Given the description of an element on the screen output the (x, y) to click on. 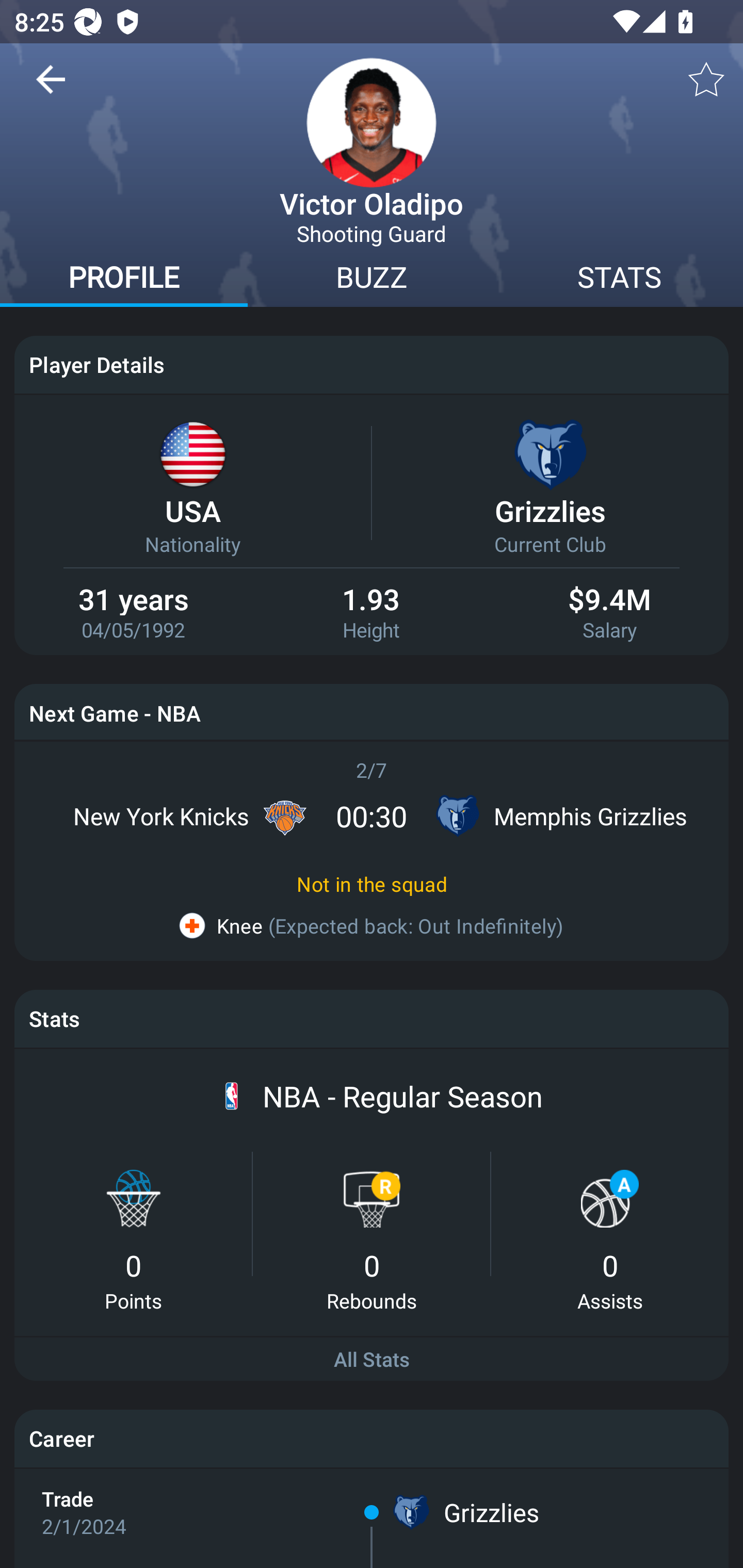
Navigate up (50, 86)
PROFILE (123, 279)
BUZZ (371, 279)
STATS (619, 279)
Player Details (371, 364)
2/7 New York Knicks 00:30 Memphis Grizzlies (371, 801)
Stats (371, 1018)
NBA - Regular Season (402, 1096)
All Stats (371, 1359)
Career (371, 1438)
Grizzlies (491, 1511)
